Given the description of an element on the screen output the (x, y) to click on. 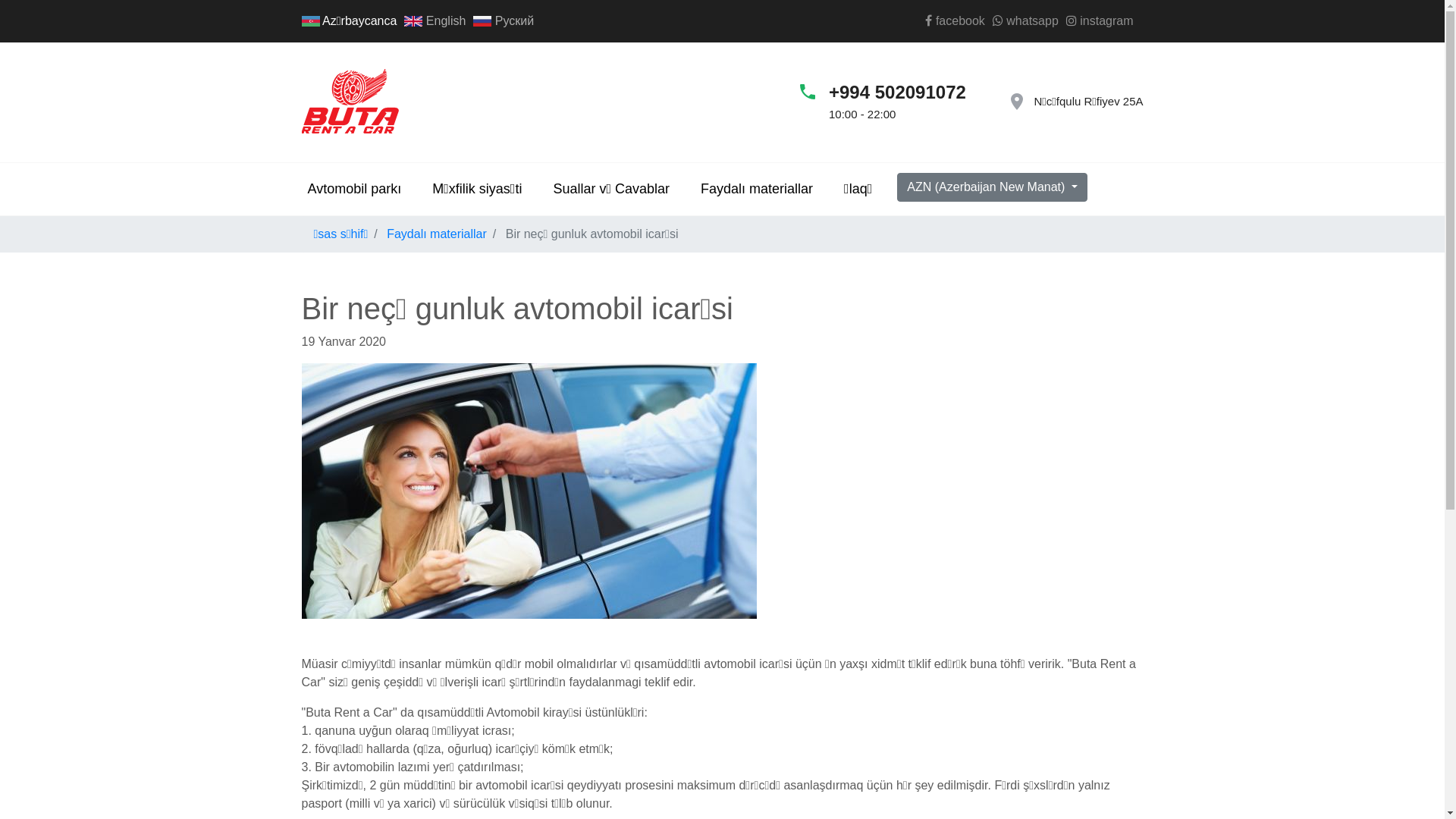
English Element type: text (434, 20)
whatsapp Element type: text (1025, 21)
facebook Element type: text (954, 21)
+994 502091072 Element type: text (907, 92)
AZN (Azerbaijan New Manat) Element type: text (992, 186)
instagram Element type: text (1099, 21)
